Given the description of an element on the screen output the (x, y) to click on. 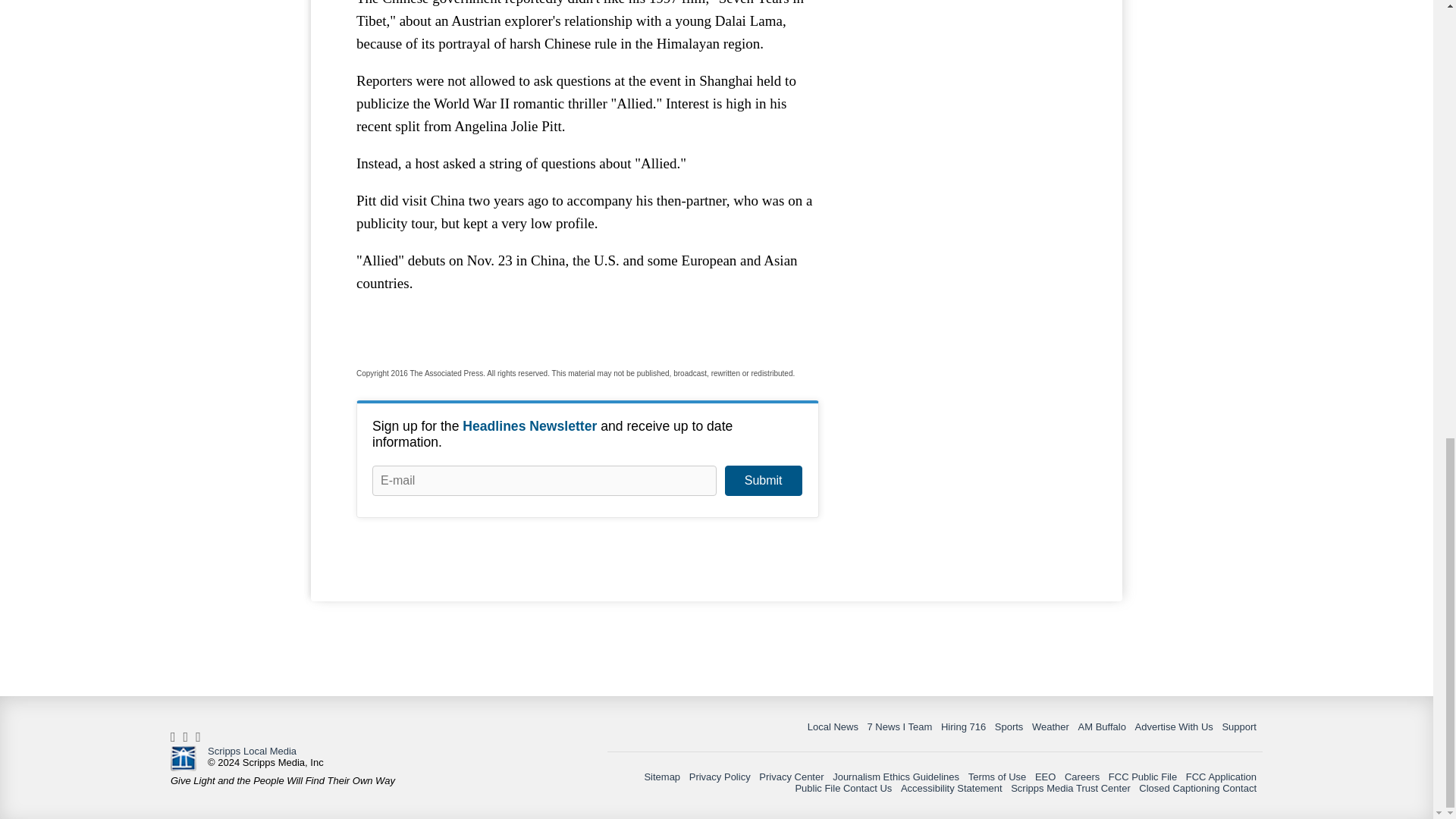
Submit (763, 481)
